Given the description of an element on the screen output the (x, y) to click on. 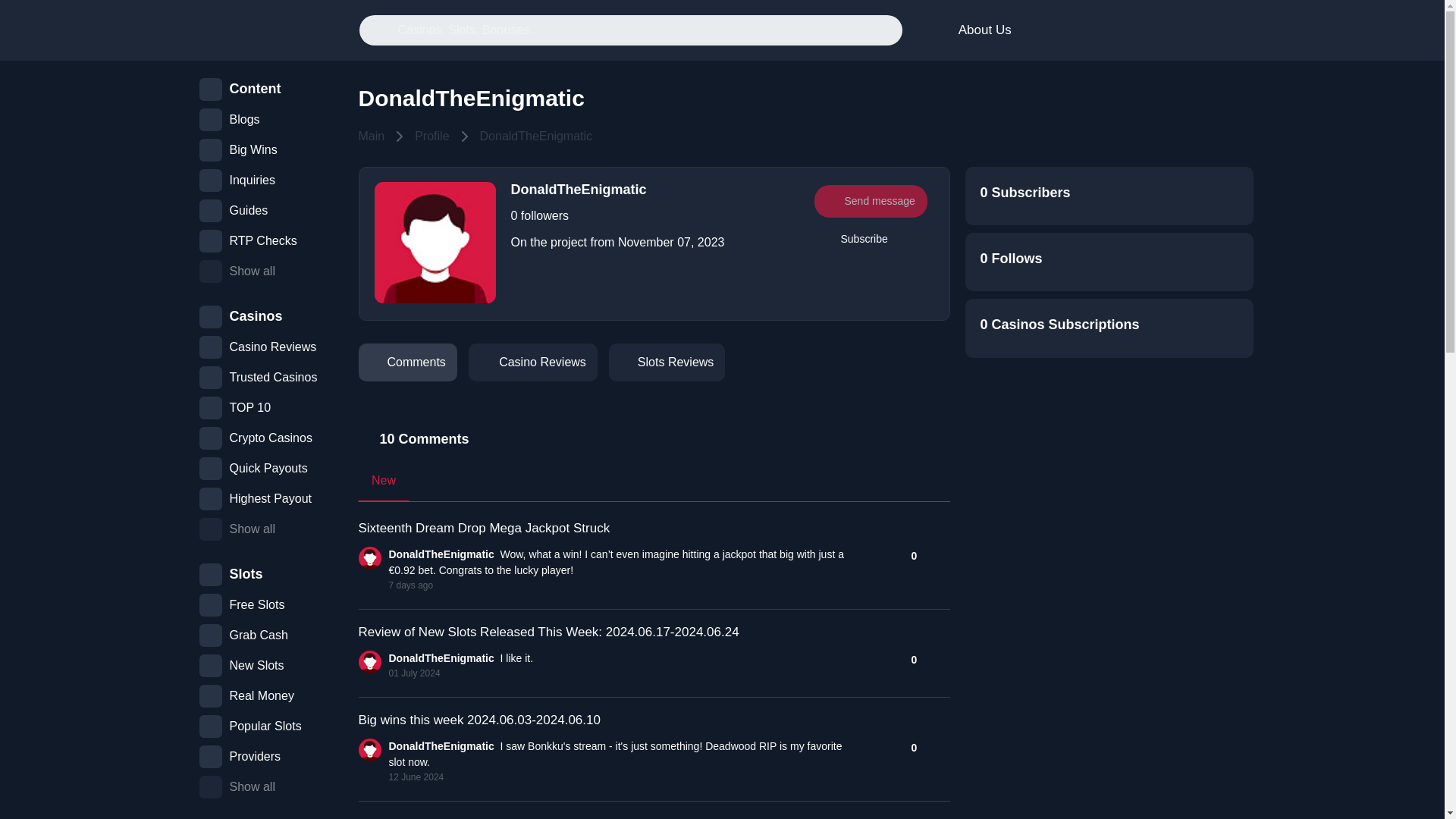
About Us (653, 366)
Content (973, 30)
